Given the description of an element on the screen output the (x, y) to click on. 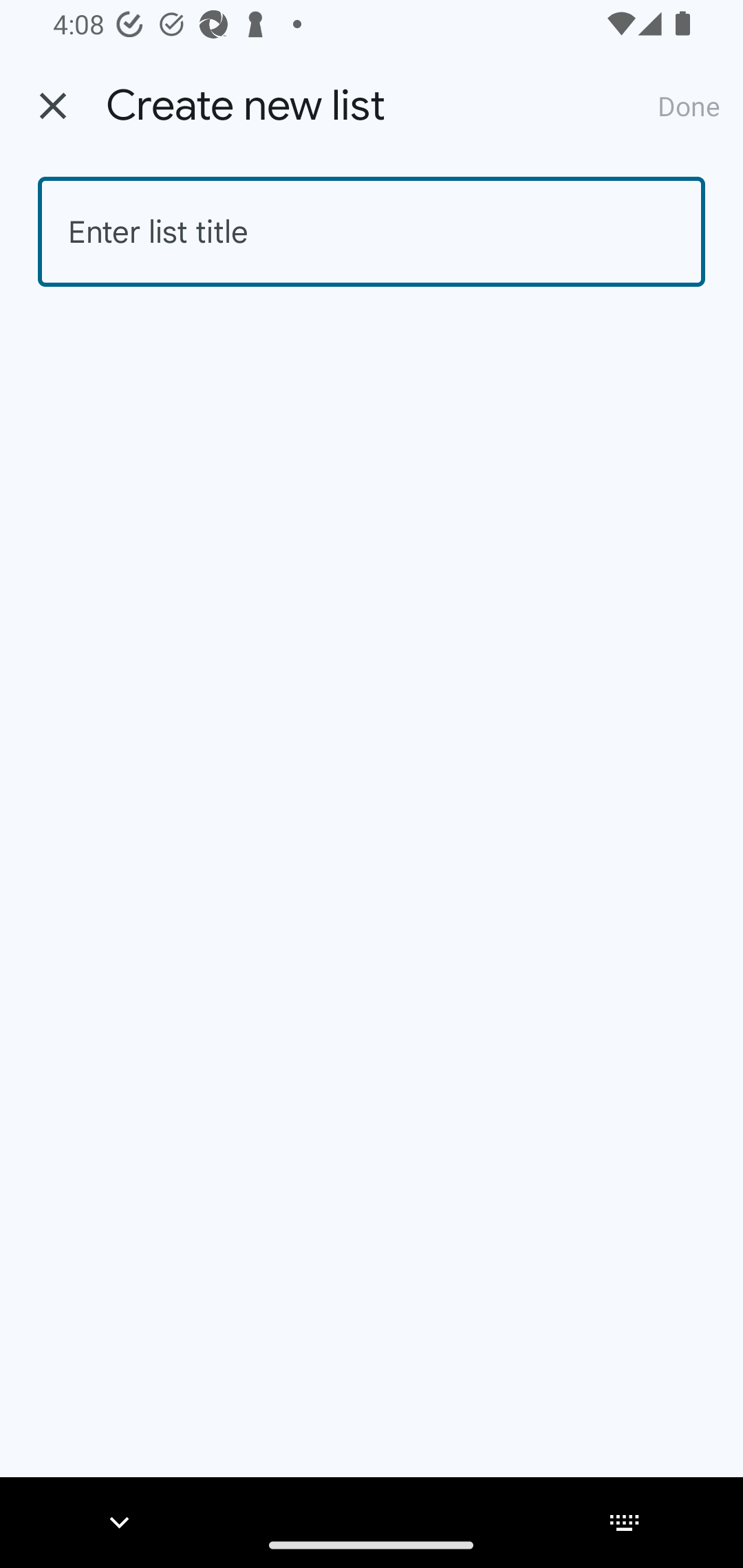
Back (53, 105)
Done (689, 105)
Enter list title (371, 231)
